Given the description of an element on the screen output the (x, y) to click on. 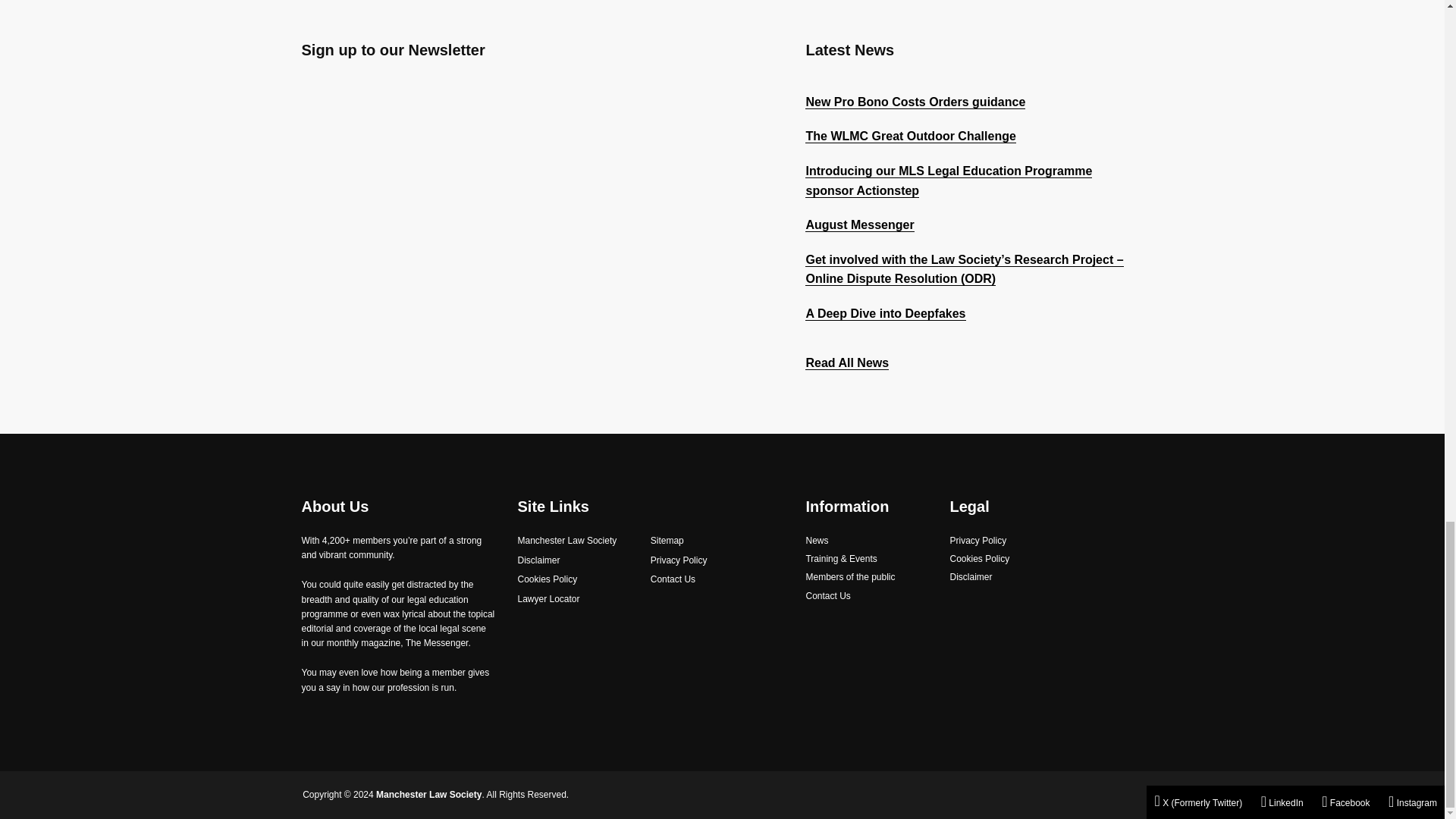
News (816, 541)
New Pro Bono Costs Orders guidance (915, 101)
Privacy Policy (678, 560)
Sitemap (667, 541)
Manchester Law Society (565, 541)
Lawyer Locator (547, 599)
Disclaimer (537, 560)
Read All News (846, 363)
The WLMC Great Outdoor Challenge (909, 136)
